Given the description of an element on the screen output the (x, y) to click on. 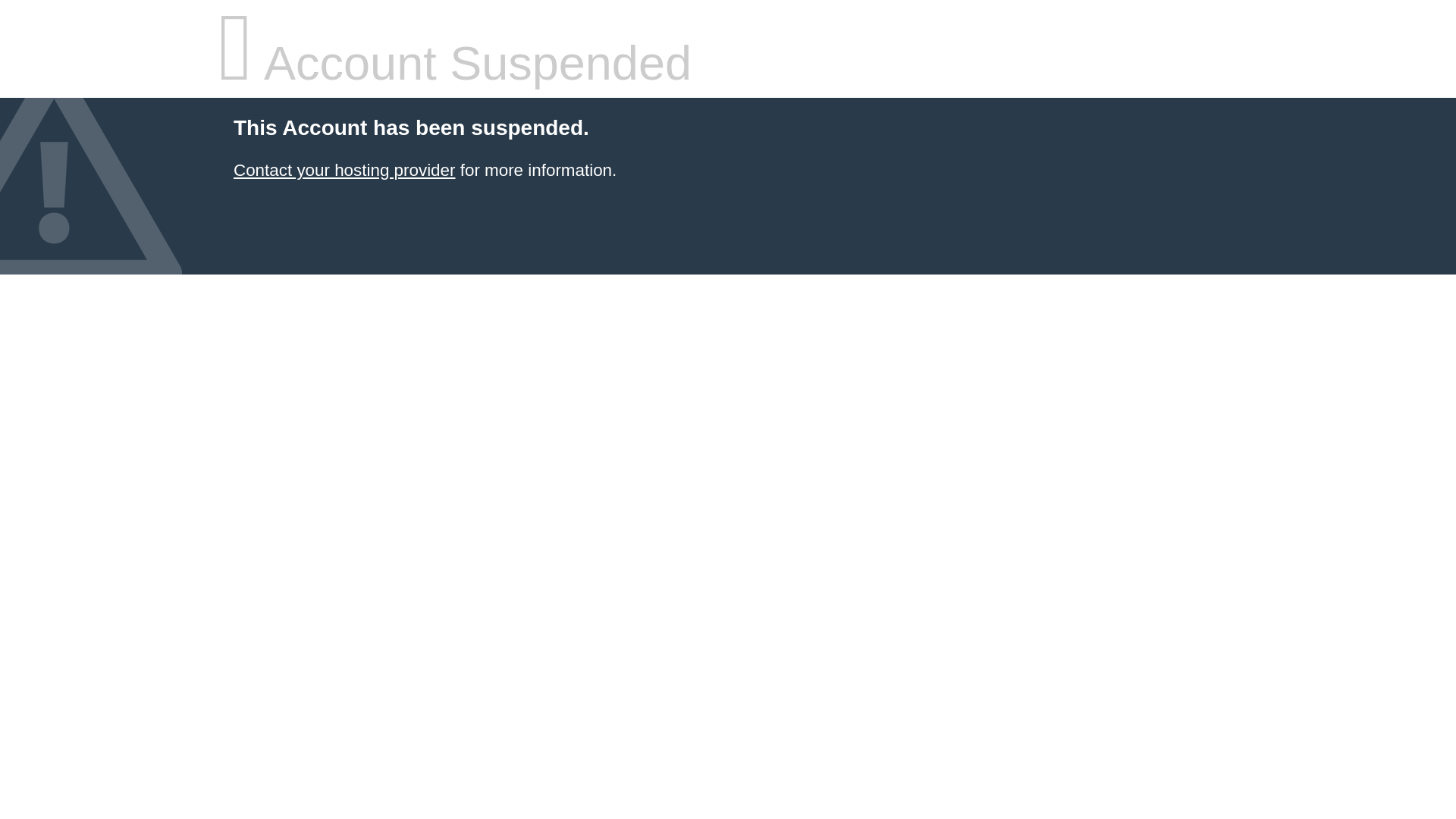
Contact your hosting provider (343, 169)
